Given the description of an element on the screen output the (x, y) to click on. 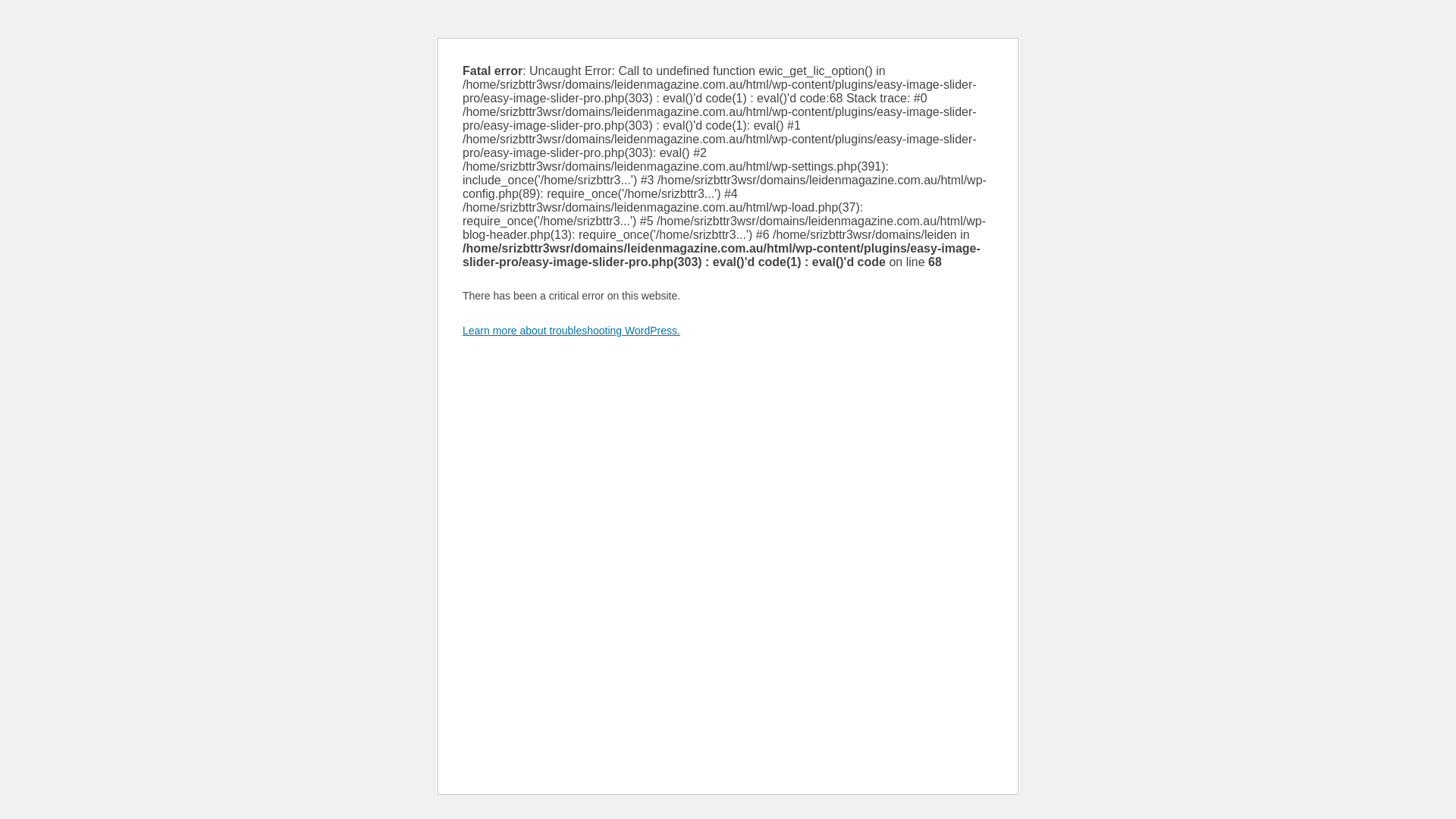
Learn more about troubleshooting WordPress. Element type: text (571, 330)
